Given the description of an element on the screen output the (x, y) to click on. 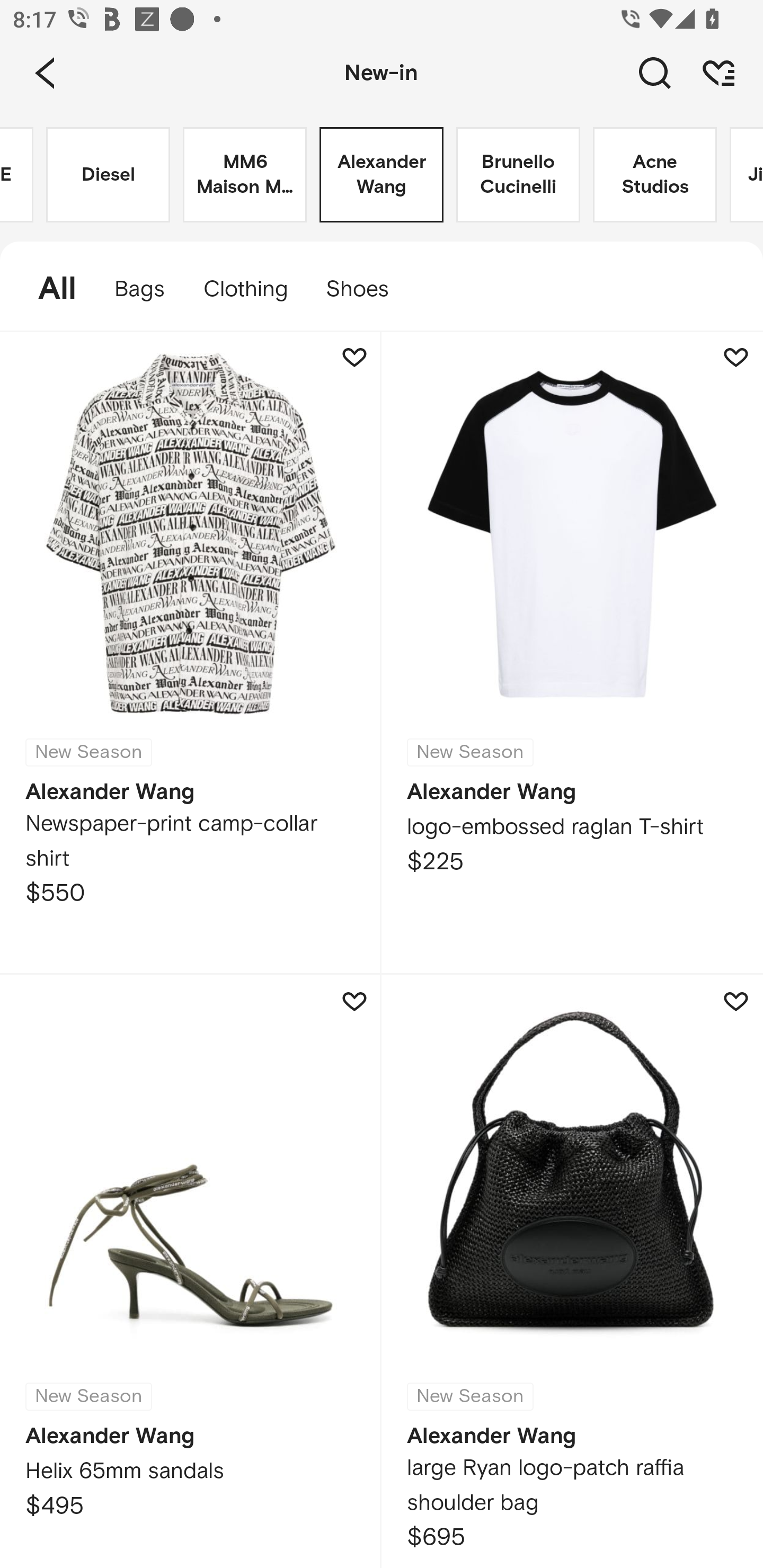
Diesel (107, 174)
MM6 Maison Margiela (244, 174)
Alexander Wang (381, 174)
Brunello Cucinelli (517, 174)
Acne Studios (654, 174)
All (47, 288)
Bags (139, 288)
Clothing (244, 288)
Shoes (366, 288)
New Season Alexander Wang Helix 65mm sandals $495 (190, 1271)
